Given the description of an element on the screen output the (x, y) to click on. 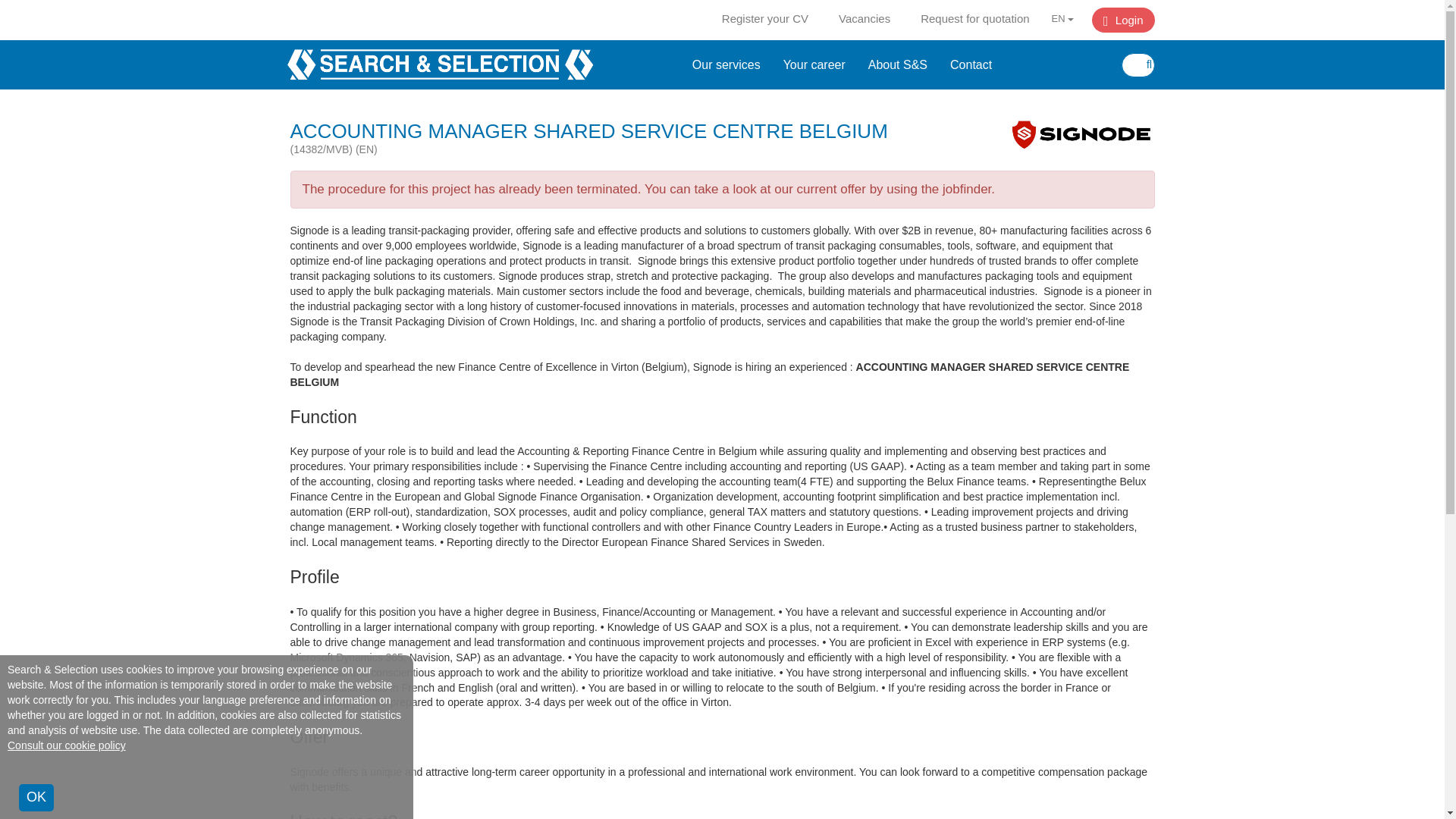
OK (35, 797)
EN (1062, 19)
Request for quotation (974, 18)
Vacancies (863, 18)
Register your CV (765, 18)
Login (1123, 19)
